Given the description of an element on the screen output the (x, y) to click on. 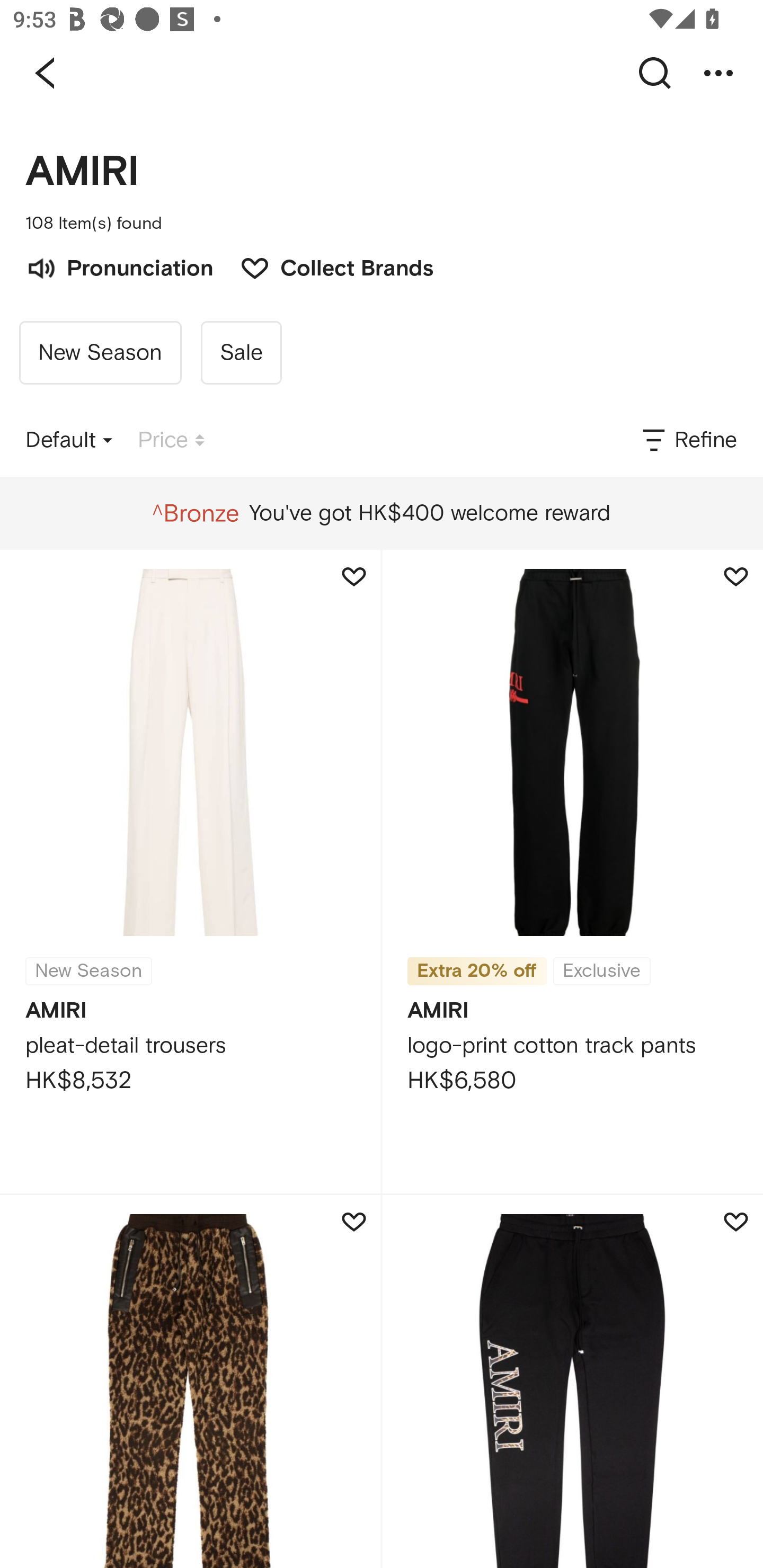
Pronunciation (119, 266)
Collect Brands (327, 266)
New Season (100, 352)
Sale (240, 352)
Default (68, 440)
Price (171, 440)
Refine (688, 440)
You've got HK$400 welcome reward (381, 513)
New Season AMIRI pleat-detail trousers HK$8,532 (190, 871)
Extra 20% off (477, 970)
